Given the description of an element on the screen output the (x, y) to click on. 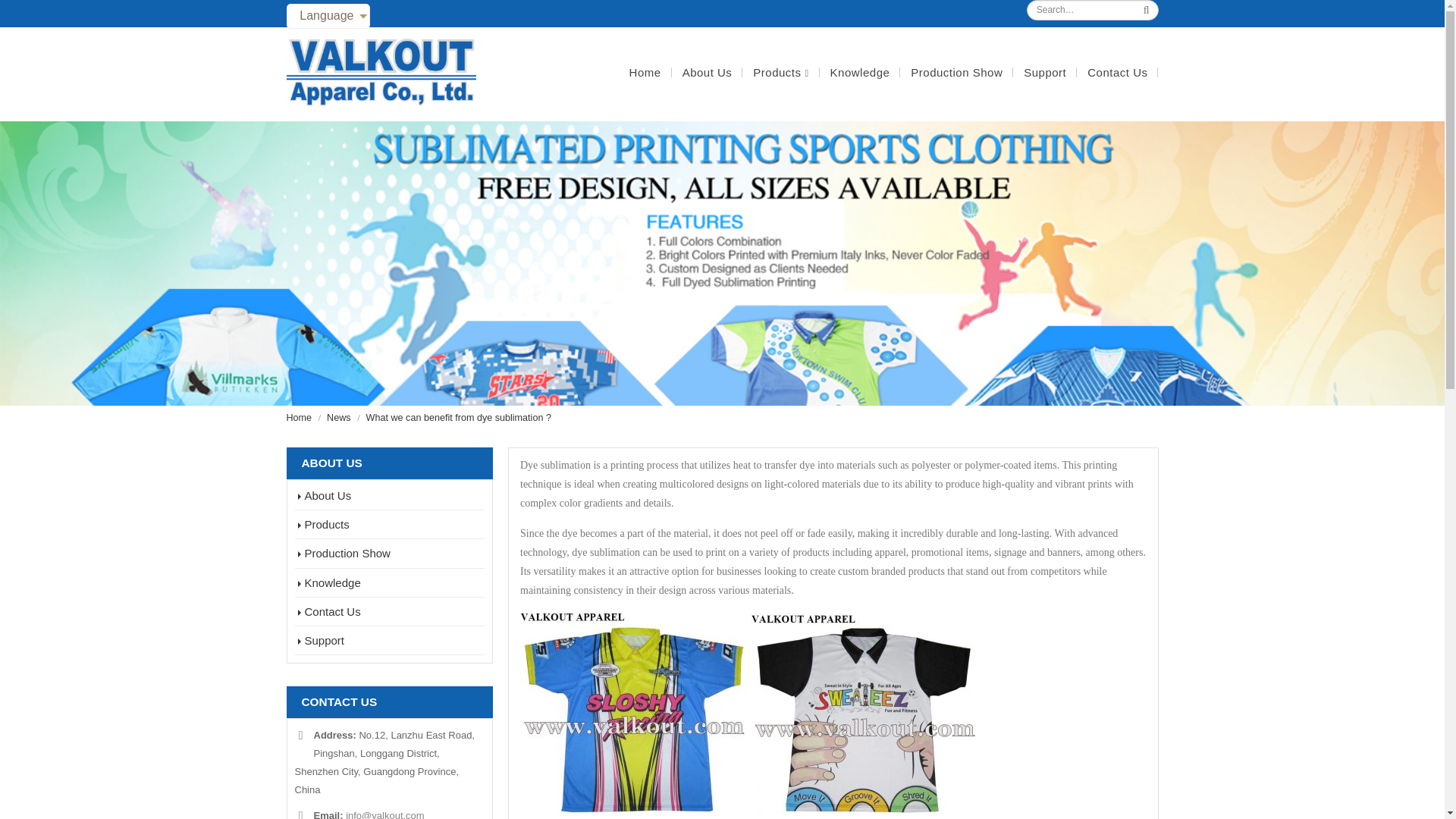
Search (1146, 9)
Language (327, 16)
About Us (706, 72)
Products (780, 72)
Home (644, 72)
